Given the description of an element on the screen output the (x, y) to click on. 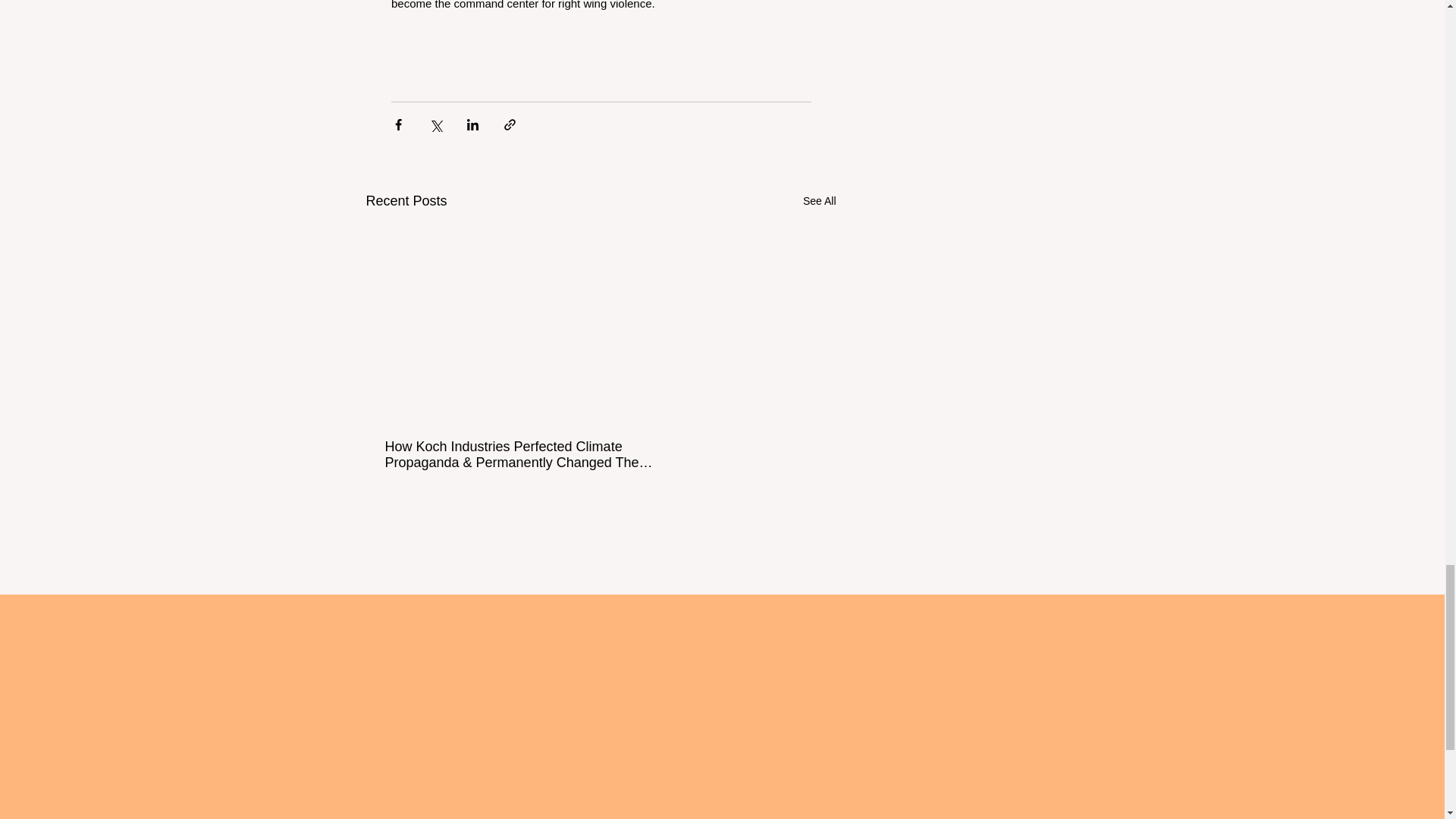
See All (819, 201)
